Given the description of an element on the screen output the (x, y) to click on. 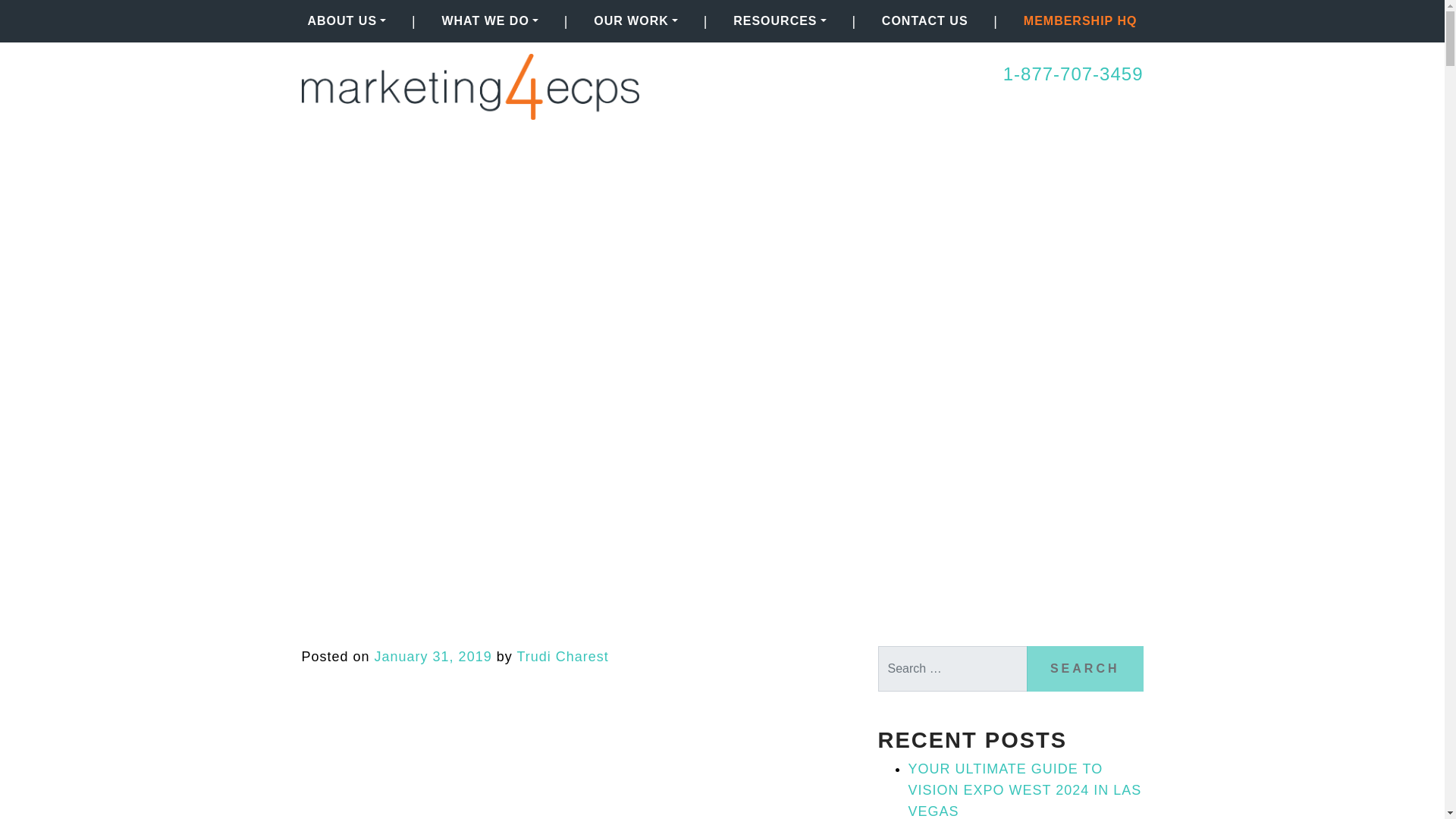
1-877-707-3459 (1072, 73)
Trudi Charest (562, 656)
RESOURCES (778, 20)
OUR WORK (636, 20)
January 31, 2019 (433, 656)
MEMBERSHIP HQ (1079, 20)
Our Work (636, 20)
ABOUT US (347, 20)
WHAT WE DO (489, 20)
CONTACT US (925, 20)
